Given the description of an element on the screen output the (x, y) to click on. 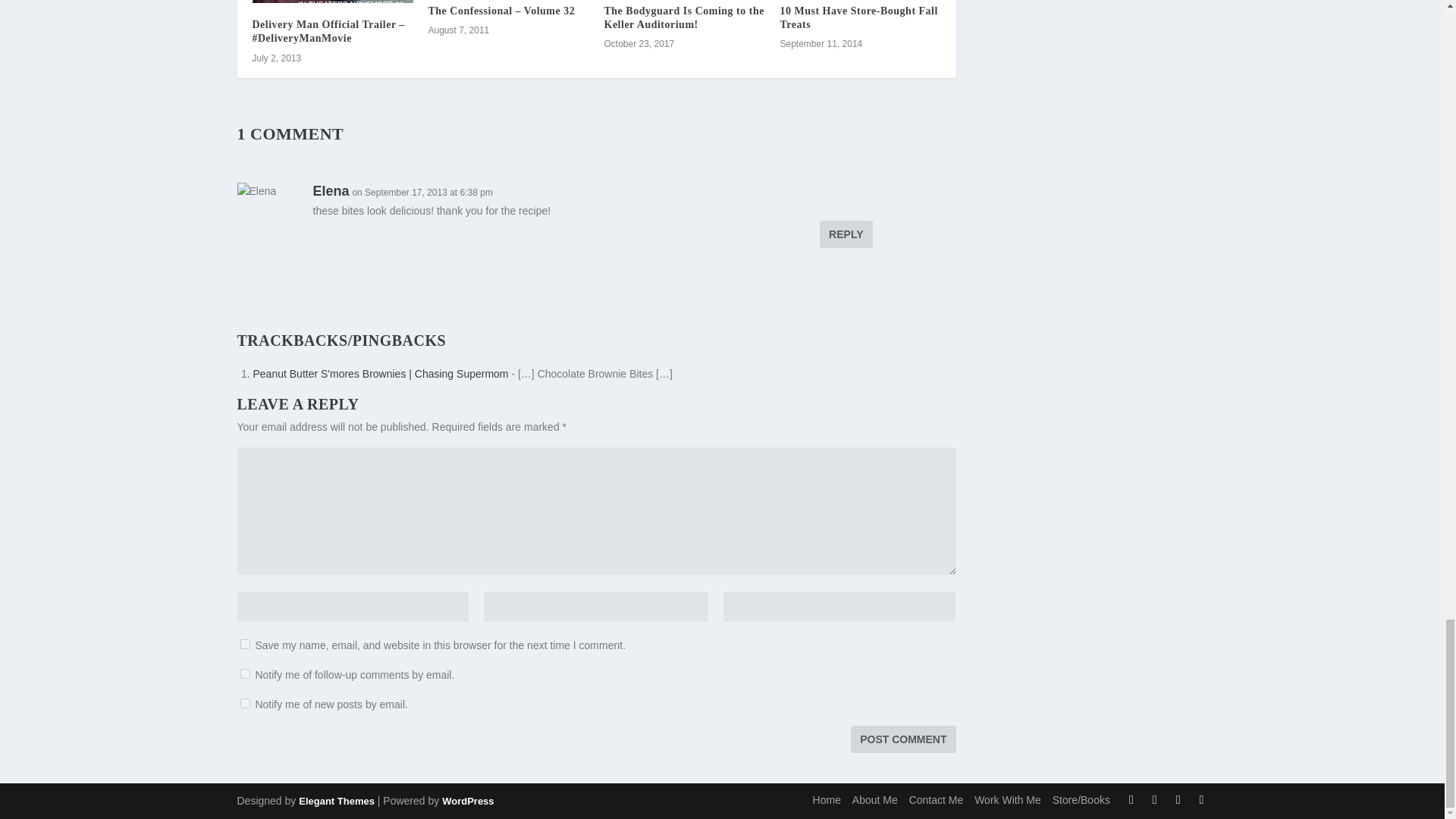
subscribe (244, 673)
subscribe (244, 703)
yes (244, 644)
Post Comment (902, 738)
